Given the description of an element on the screen output the (x, y) to click on. 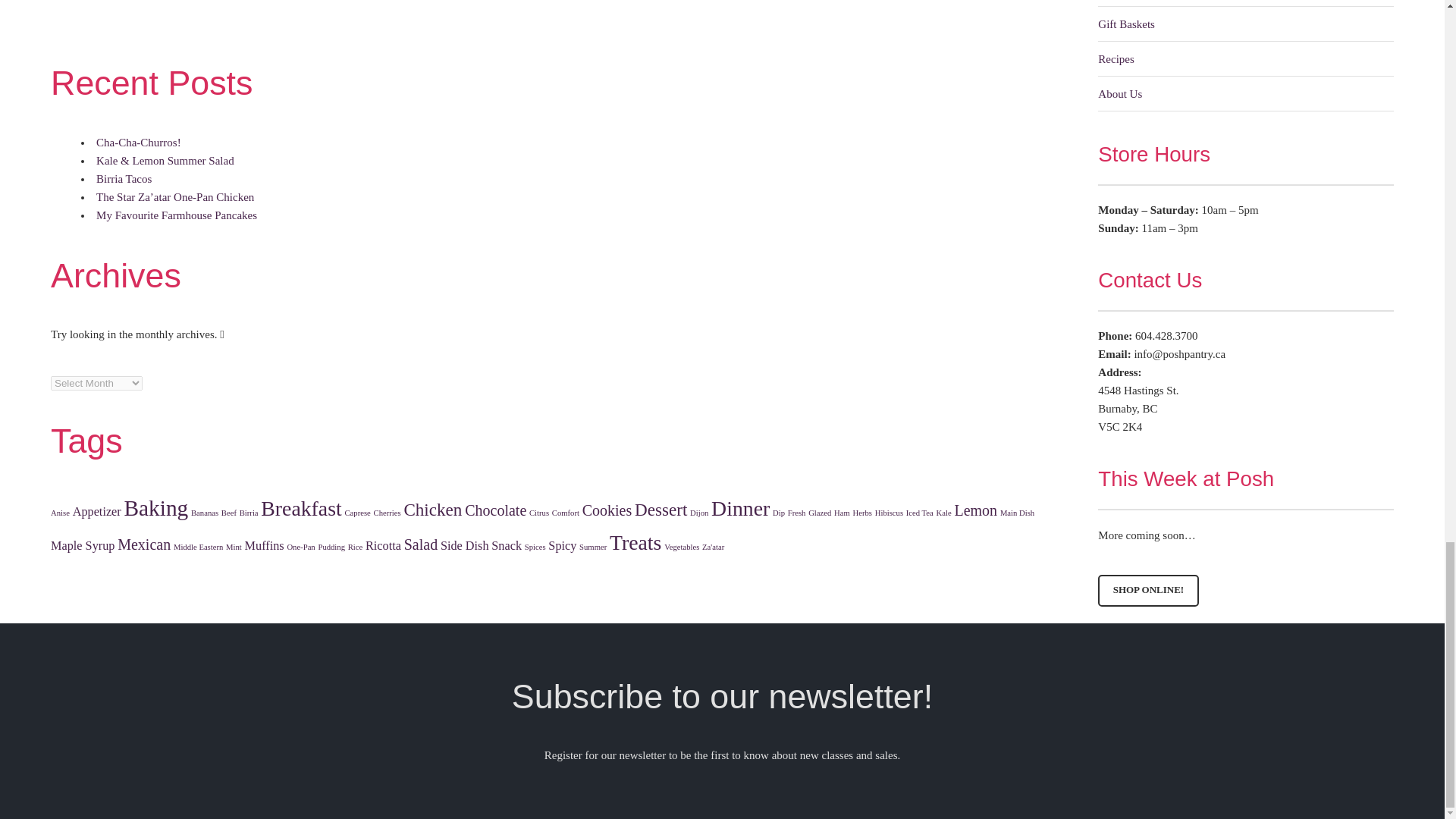
Cherries (387, 512)
Fresh (796, 512)
Cookies (606, 510)
Breakfast (300, 508)
Bananas (204, 512)
Dinner (740, 508)
Birria (249, 512)
Cha-Cha-Churros! (138, 142)
Baking (156, 508)
Comfort (565, 512)
